Given the description of an element on the screen output the (x, y) to click on. 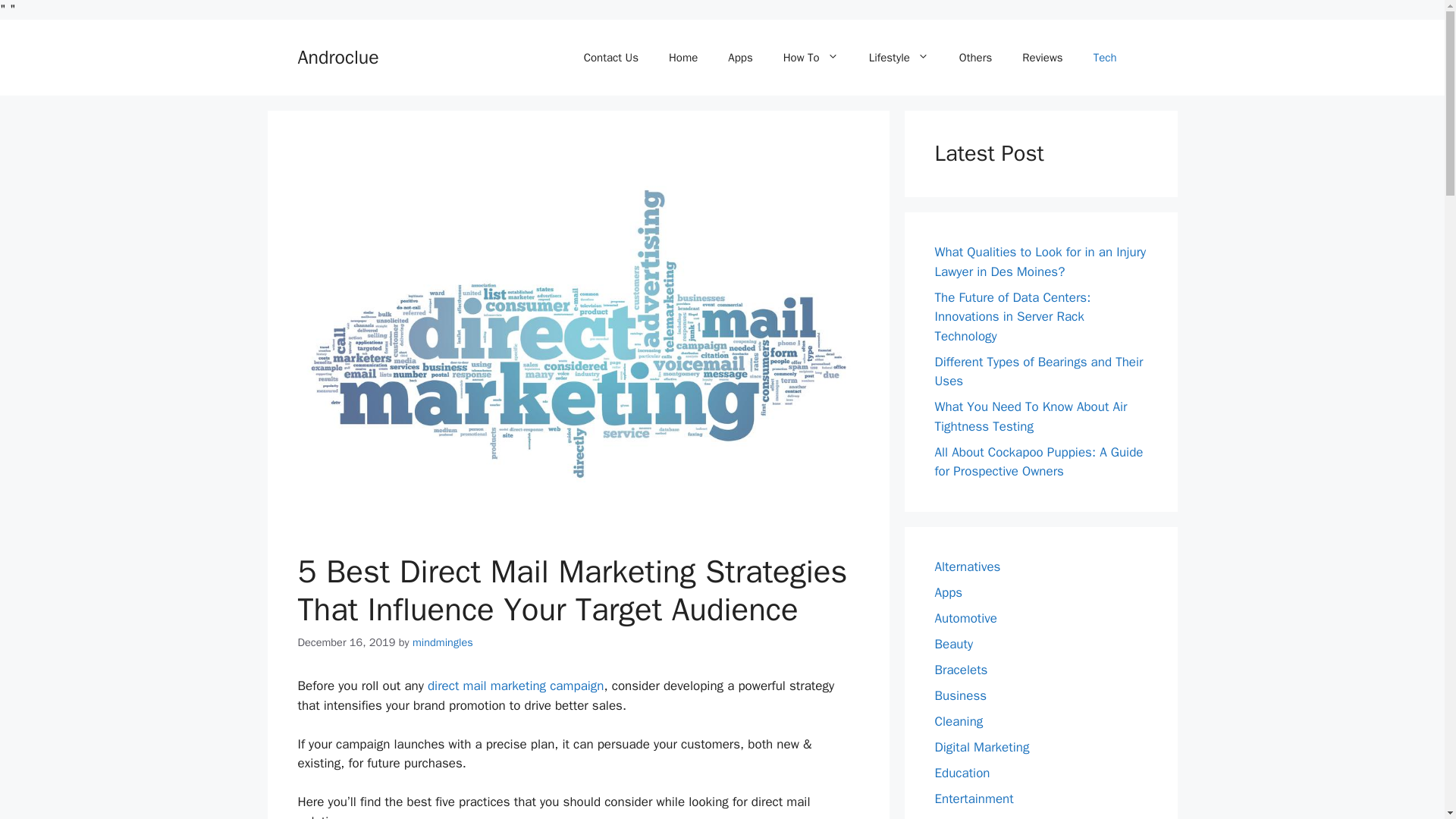
Reviews (1042, 57)
View all posts by mindmingles (442, 642)
Androclue (337, 56)
Tech (1105, 57)
Business (960, 695)
Home (683, 57)
Lifestyle (898, 57)
Others (975, 57)
Contact Us (611, 57)
Beauty (953, 643)
Cleaning (958, 721)
mindmingles (442, 642)
What You Need To Know About Air Tightness Testing (1030, 416)
Entertainment (973, 798)
